Given the description of an element on the screen output the (x, y) to click on. 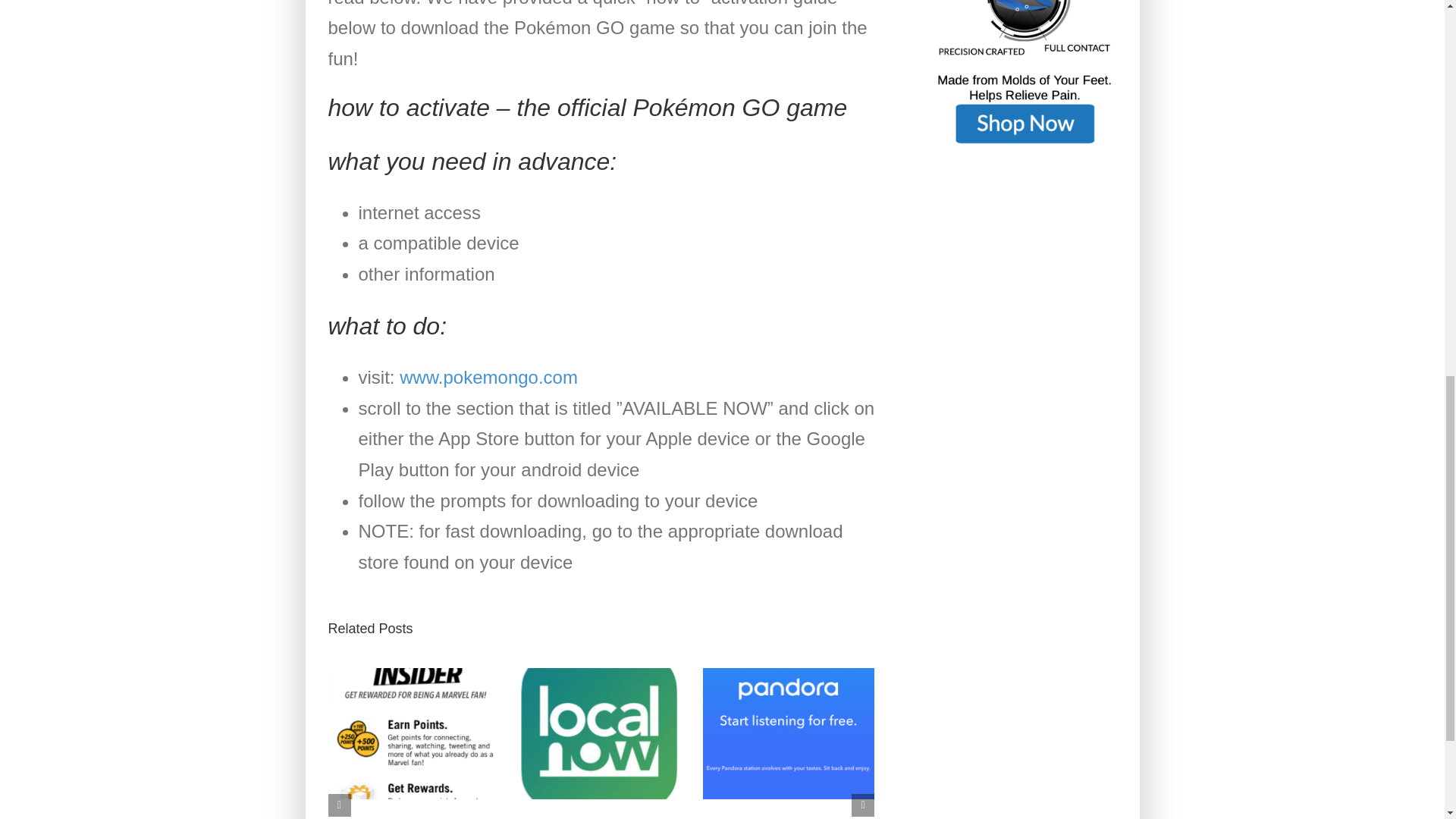
www.pokemongo.com (488, 376)
